Given the description of an element on the screen output the (x, y) to click on. 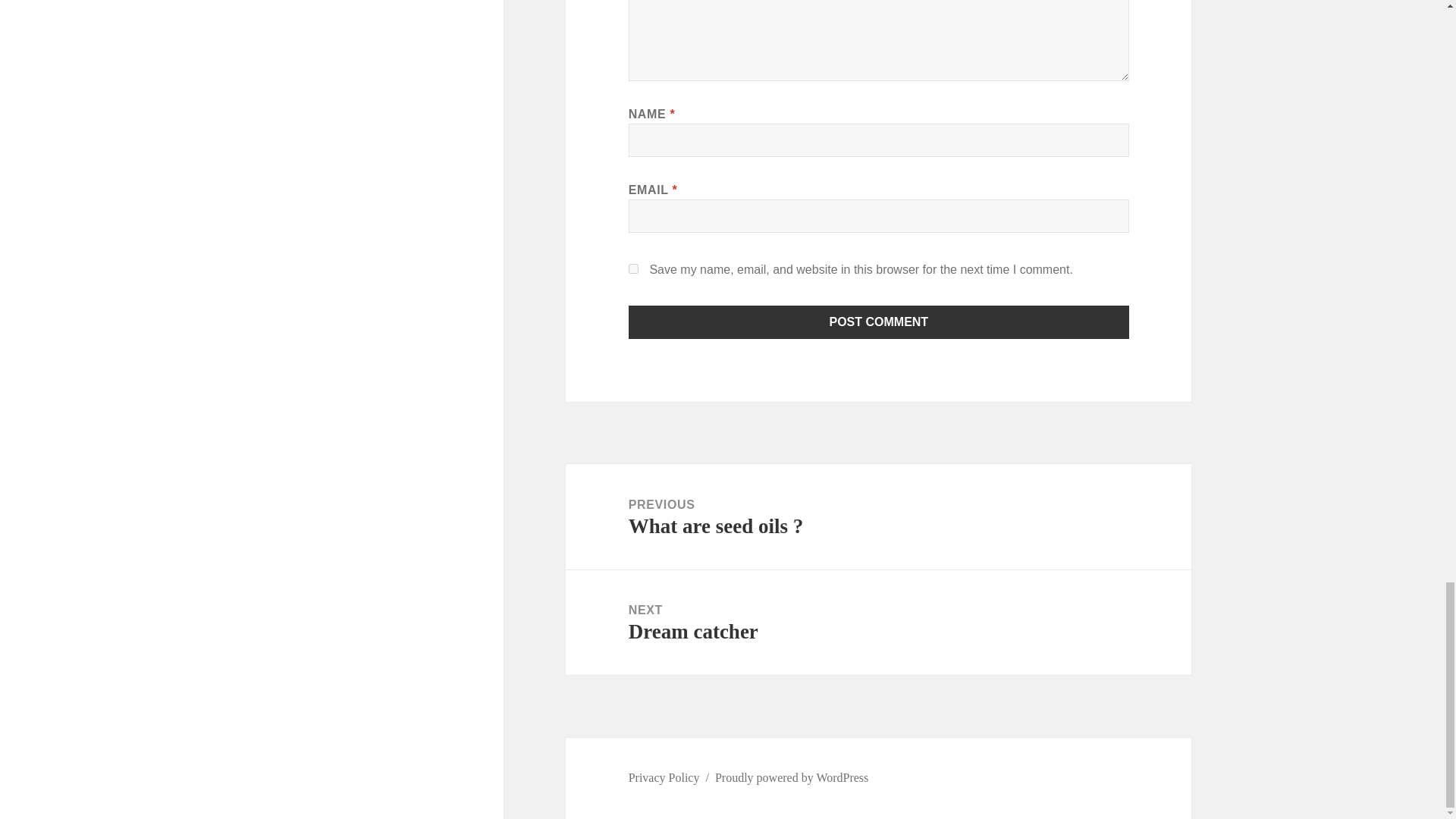
yes (633, 268)
Post Comment (878, 322)
Post Comment (878, 322)
